Given the description of an element on the screen output the (x, y) to click on. 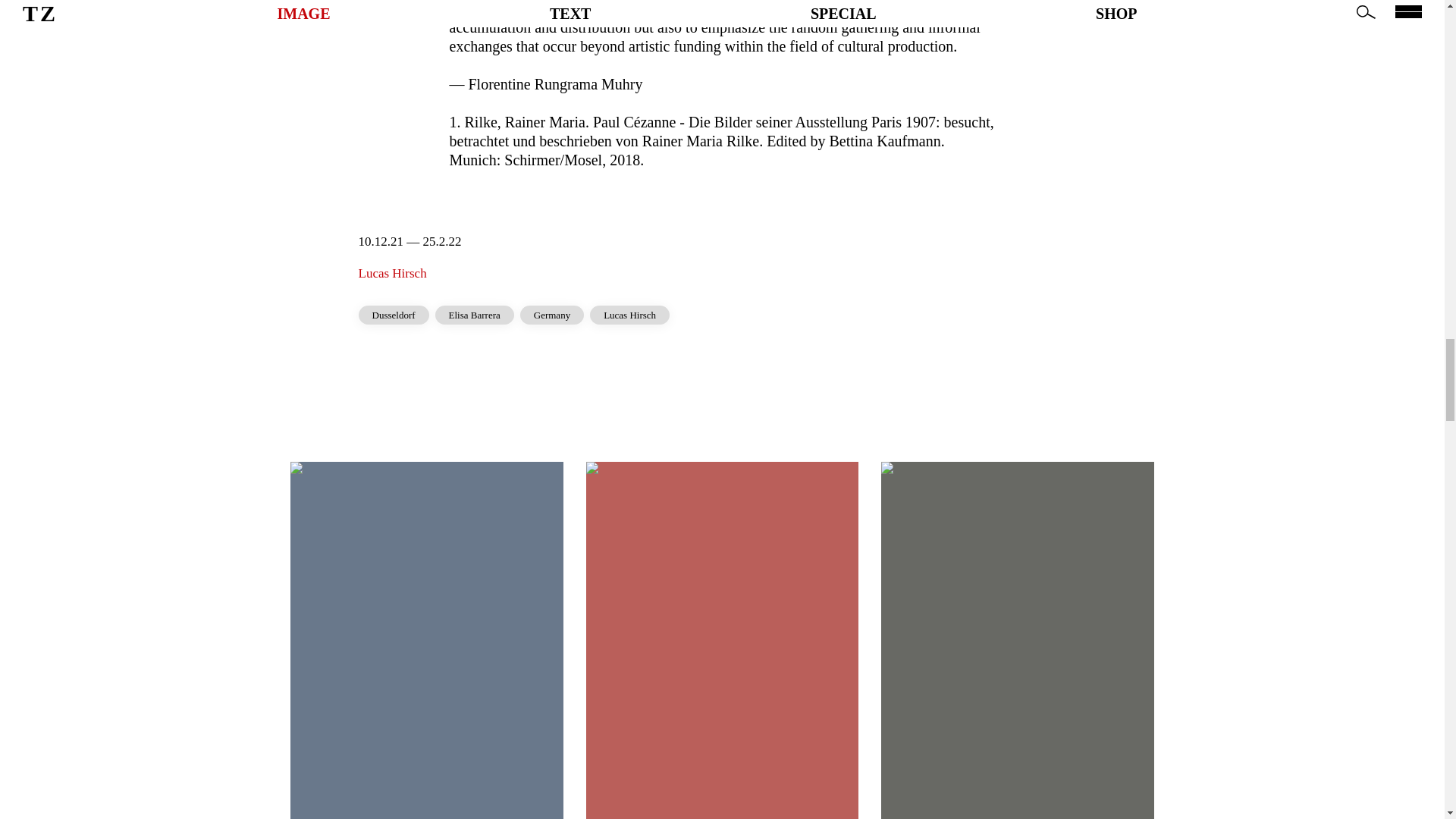
Elisa Barrera (474, 314)
Dusseldorf (393, 314)
Germany (551, 314)
Lucas Hirsch (392, 273)
Lucas Hirsch (629, 314)
